Given the description of an element on the screen output the (x, y) to click on. 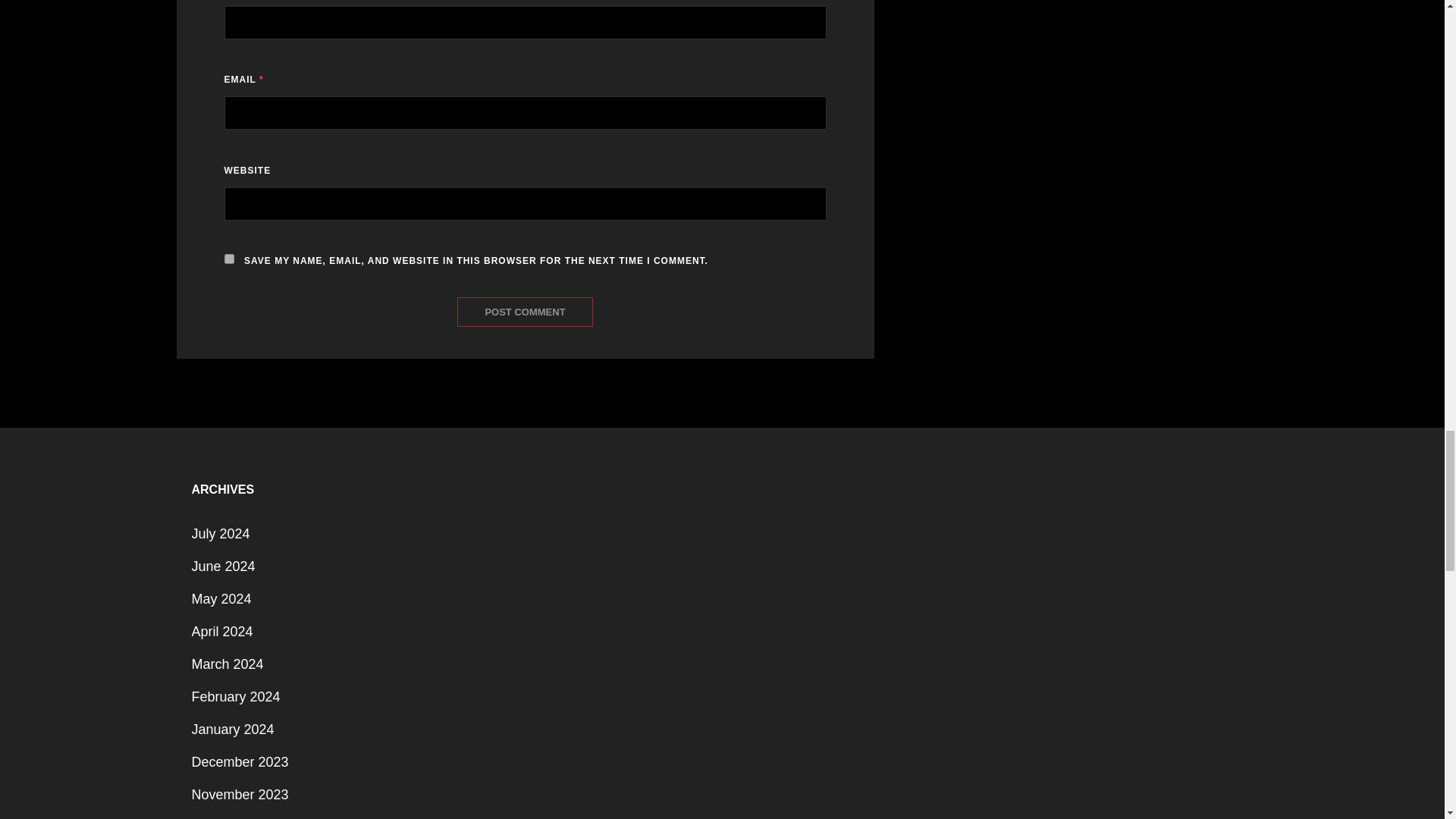
March 2024 (226, 664)
December 2023 (239, 761)
November 2023 (239, 794)
June 2024 (222, 565)
October 2023 (231, 816)
Post Comment (524, 311)
yes (229, 258)
January 2024 (231, 728)
July 2024 (219, 533)
April 2024 (220, 631)
